Given the description of an element on the screen output the (x, y) to click on. 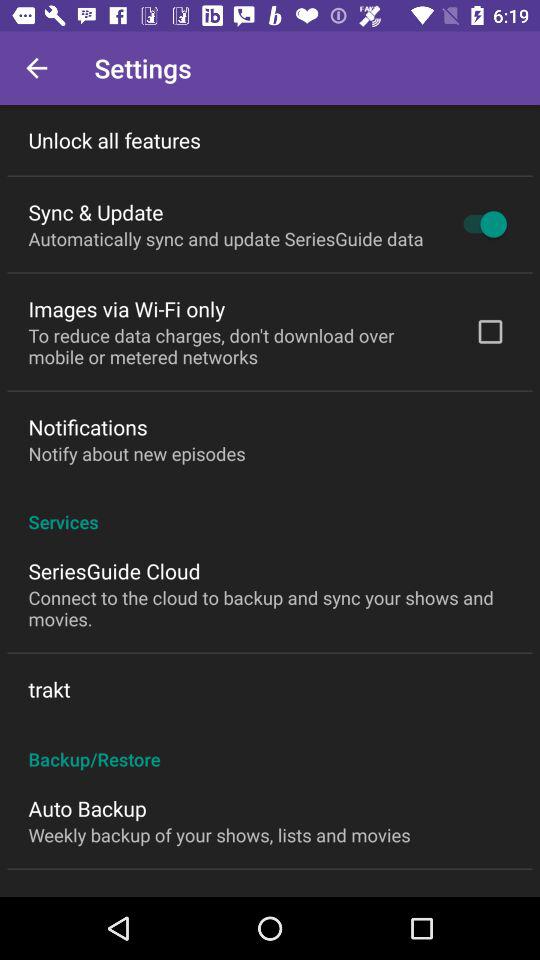
scroll to the to reduce data (238, 346)
